Given the description of an element on the screen output the (x, y) to click on. 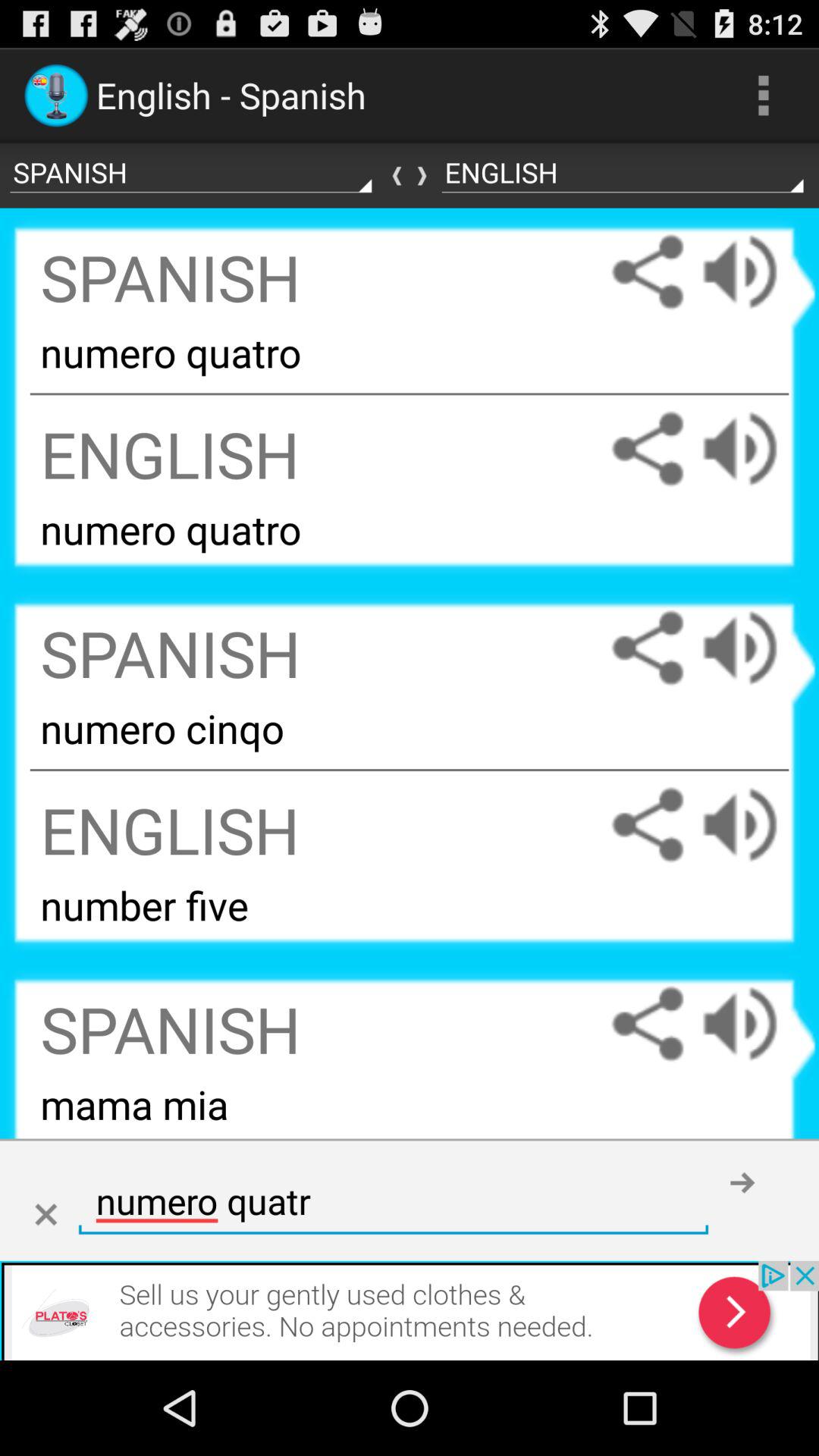
a button to share the word (647, 647)
